Given the description of an element on the screen output the (x, y) to click on. 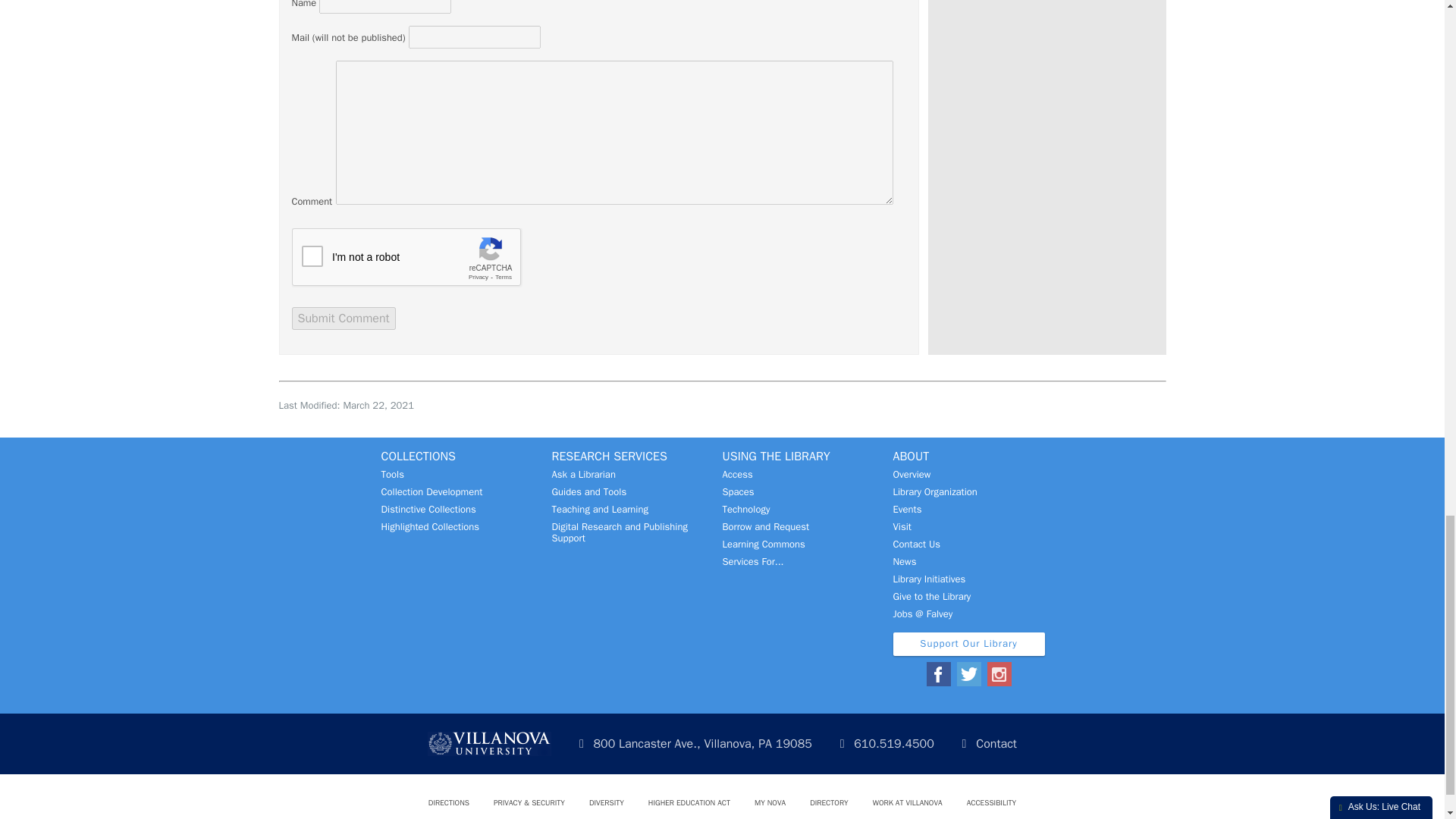
reCAPTCHA (406, 257)
Submit Comment (342, 318)
